Given the description of an element on the screen output the (x, y) to click on. 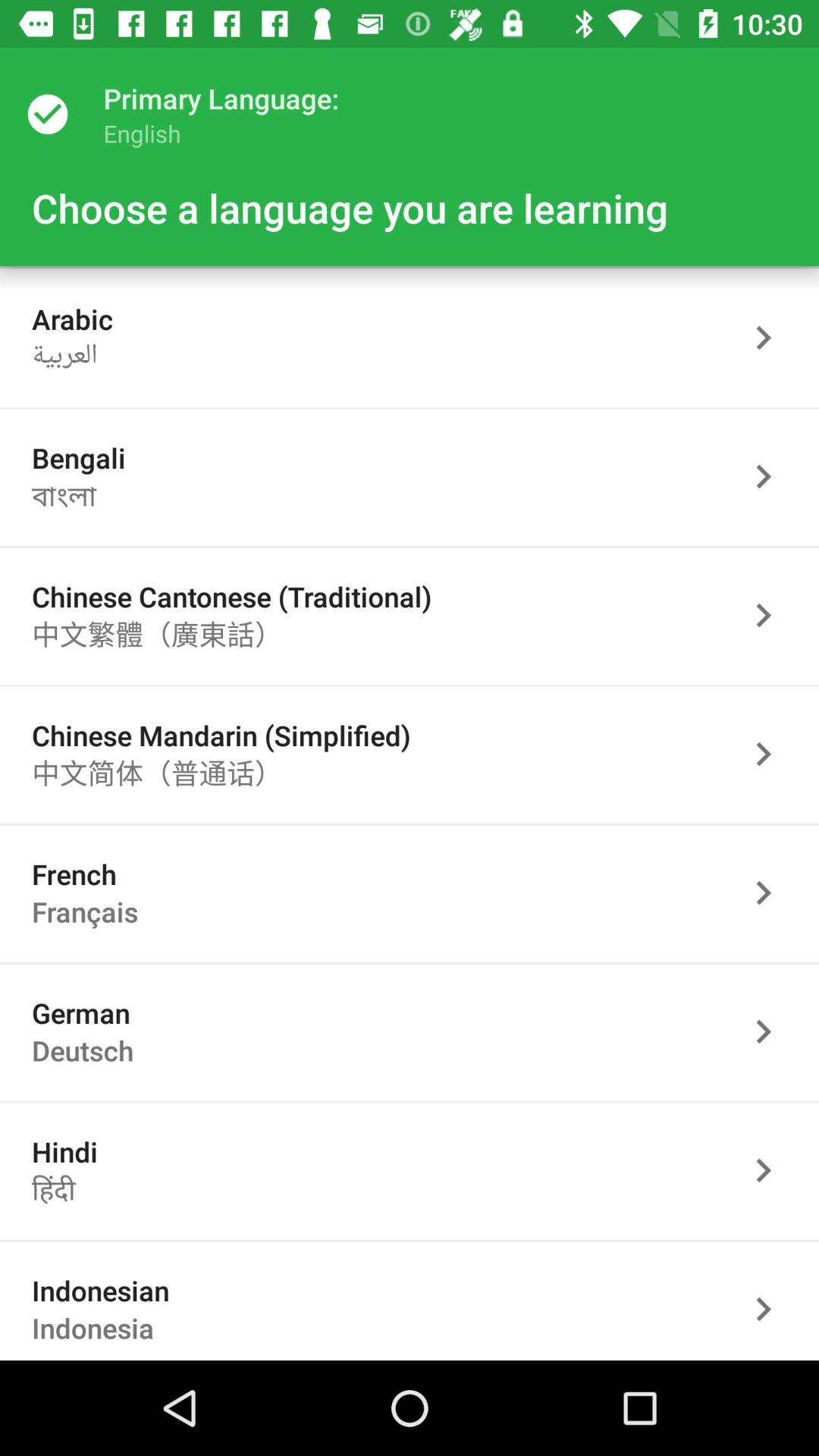
change language to arabic (771, 337)
